Given the description of an element on the screen output the (x, y) to click on. 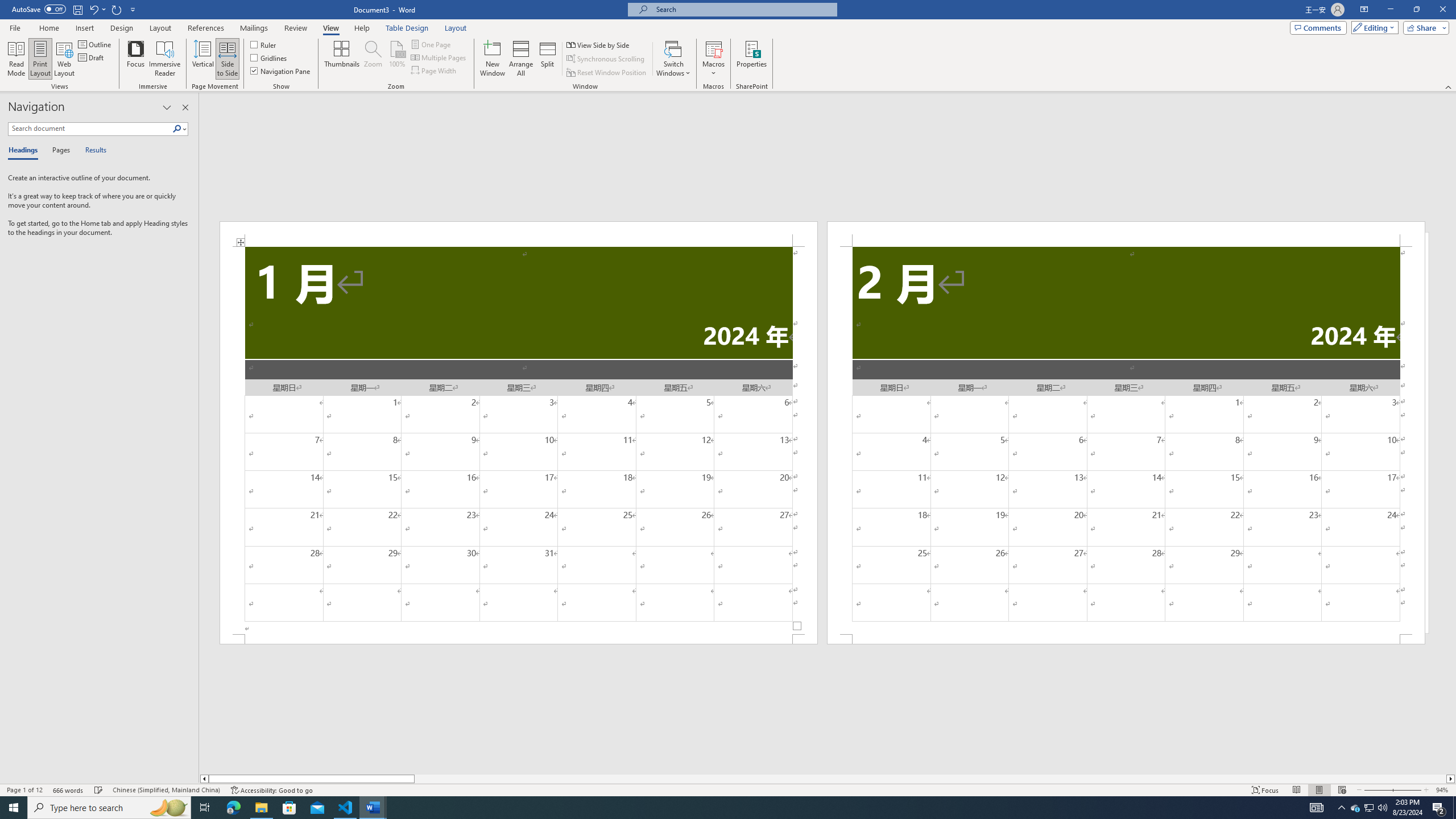
Side to Side (226, 58)
